Given the description of an element on the screen output the (x, y) to click on. 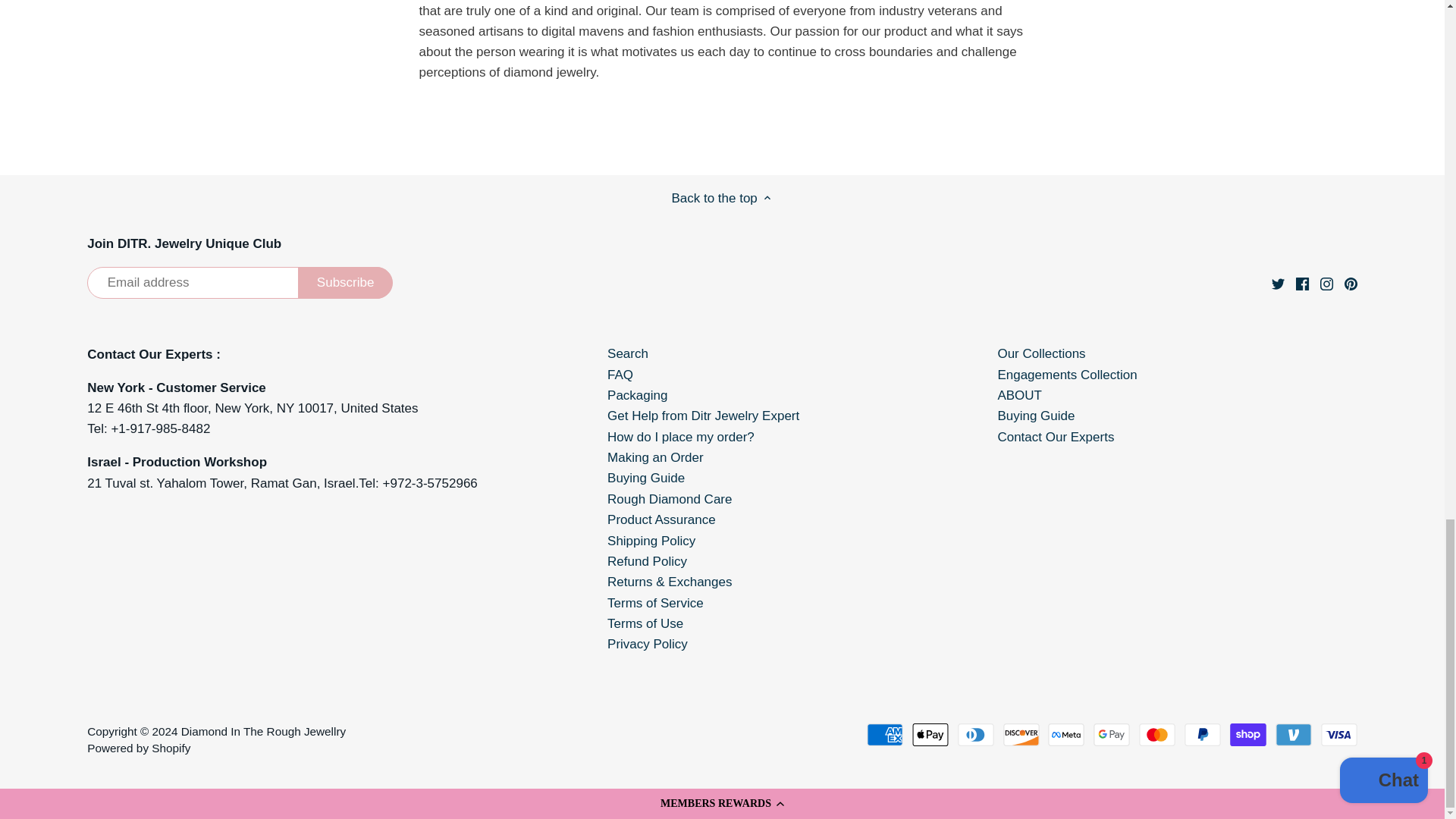
Pinterest (1349, 283)
Subscribe (345, 282)
American Express (884, 734)
Instagram (1326, 283)
Discover (1021, 734)
Twitter (1277, 283)
Diners Club (976, 734)
Facebook (1301, 283)
Apple Pay (930, 734)
